Given the description of an element on the screen output the (x, y) to click on. 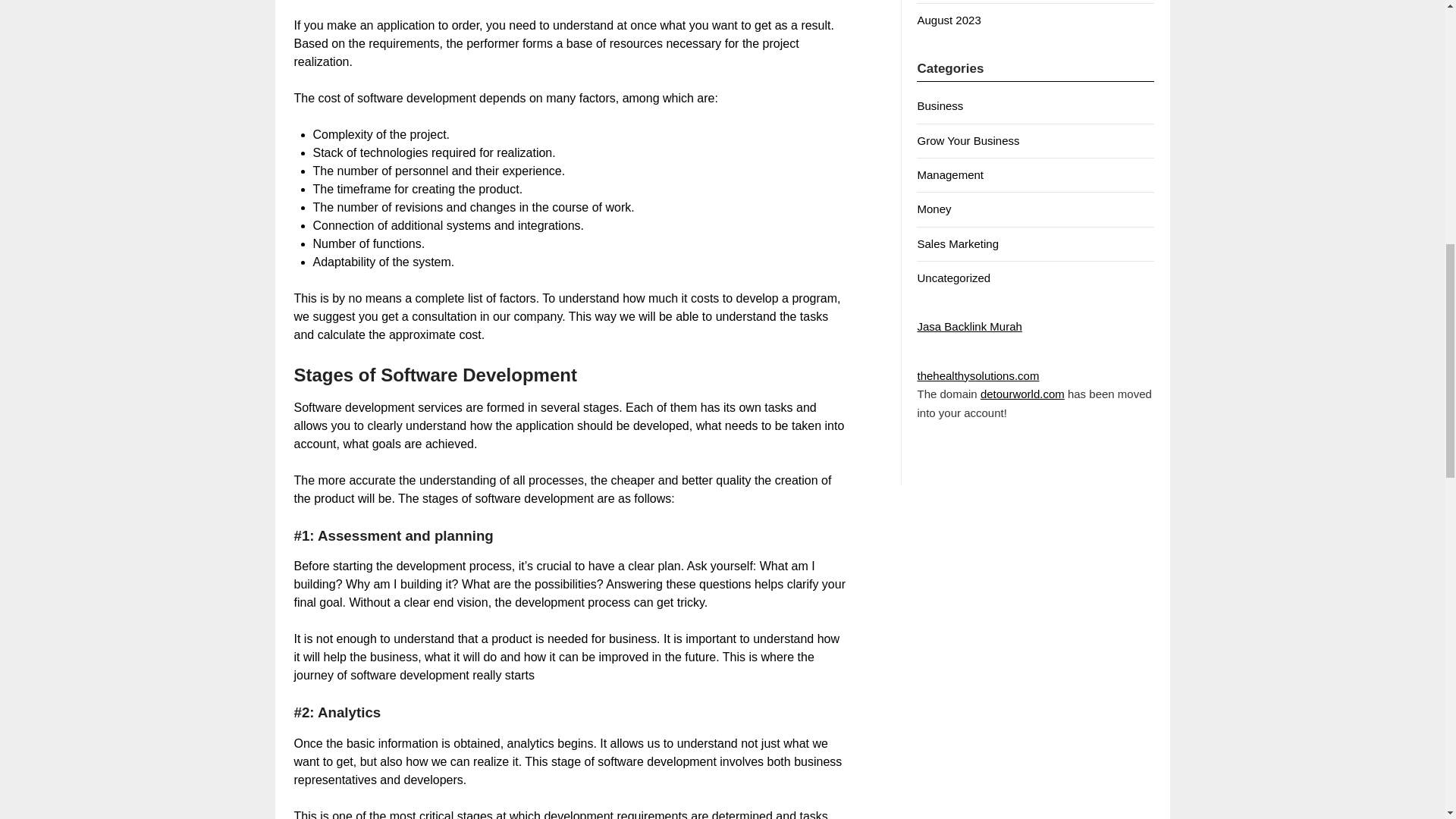
Management (950, 174)
Sales Marketing (957, 243)
Business (939, 105)
Uncategorized (953, 277)
Jasa Backlink Murah (969, 326)
August 2023 (948, 19)
Grow Your Business (968, 140)
Money (933, 208)
